Given the description of an element on the screen output the (x, y) to click on. 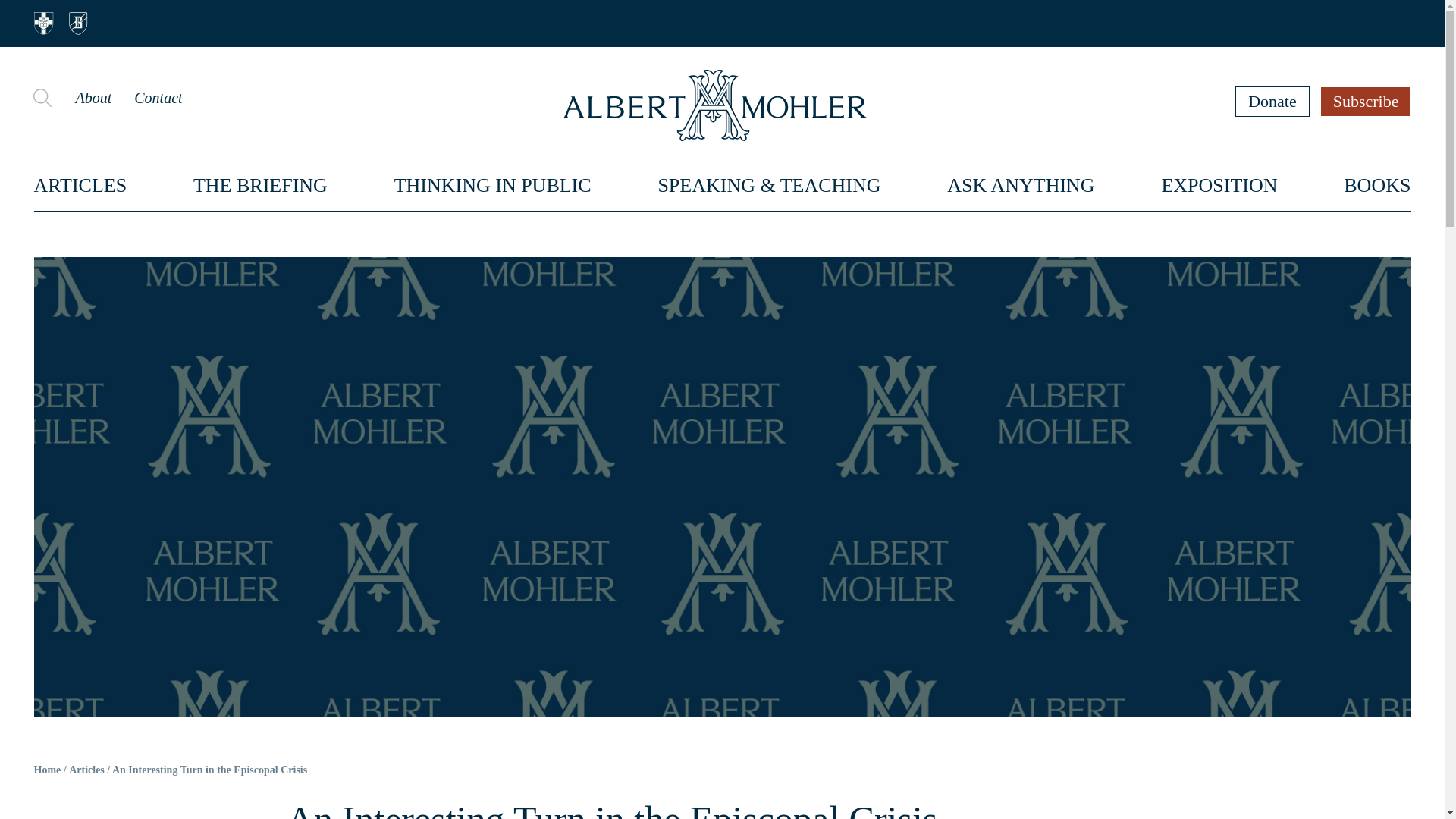
EXPOSITION (1218, 185)
Contact (157, 97)
THINKING IN PUBLIC (492, 185)
Subscribe (1366, 101)
Articles (86, 770)
THE BRIEFING (260, 185)
Donate (1272, 101)
Home (47, 770)
About (93, 97)
BOOKS (1376, 185)
ARTICLES (79, 185)
ASK ANYTHING (1020, 185)
